Given the description of an element on the screen output the (x, y) to click on. 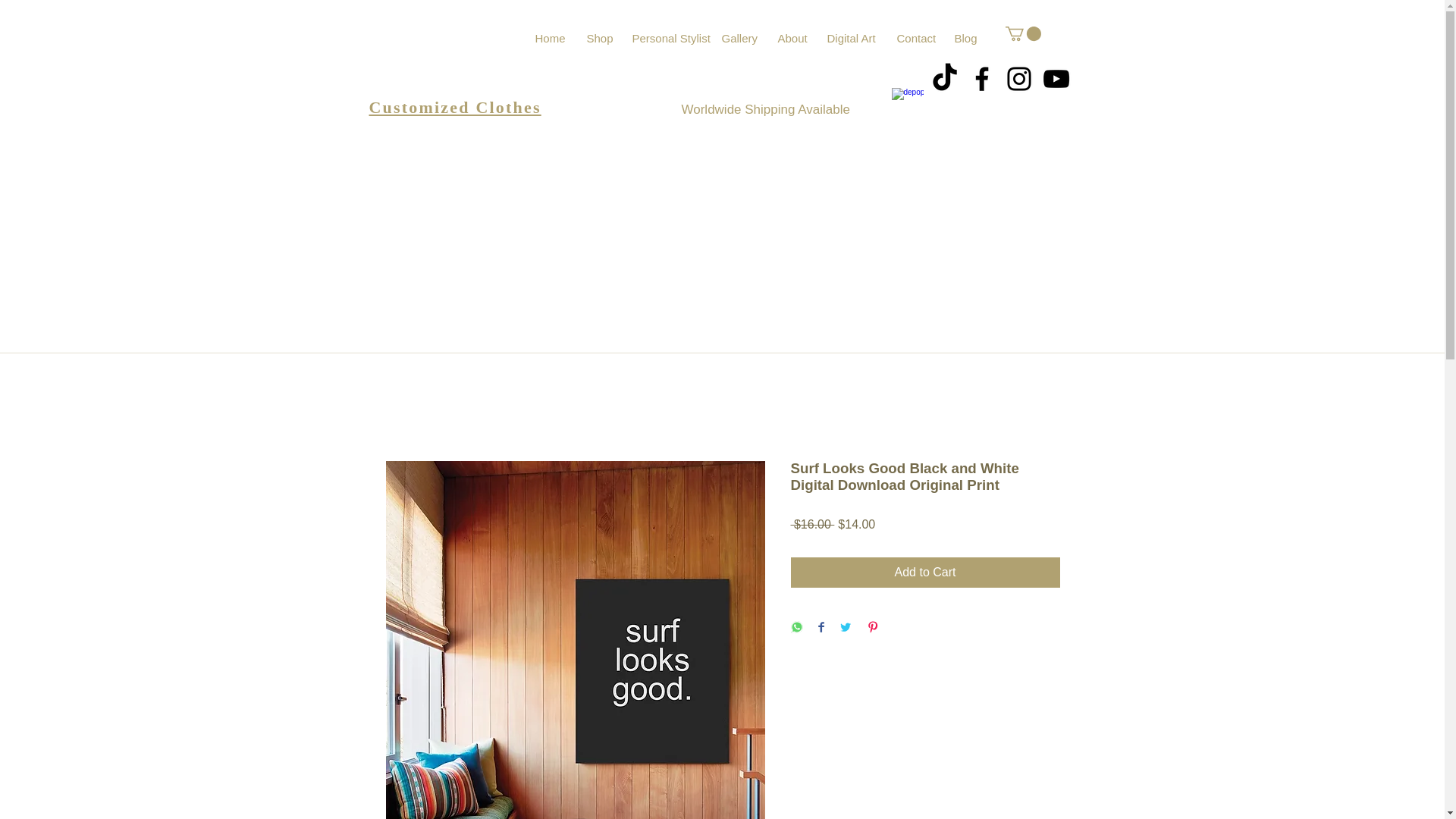
Gallery (748, 37)
Customized Clothes (454, 107)
About (800, 37)
Digital Art (860, 37)
Personal Stylist (675, 37)
Add to Cart (924, 572)
Contact (923, 37)
Home (559, 37)
Blog (973, 37)
Shop (607, 37)
